Given the description of an element on the screen output the (x, y) to click on. 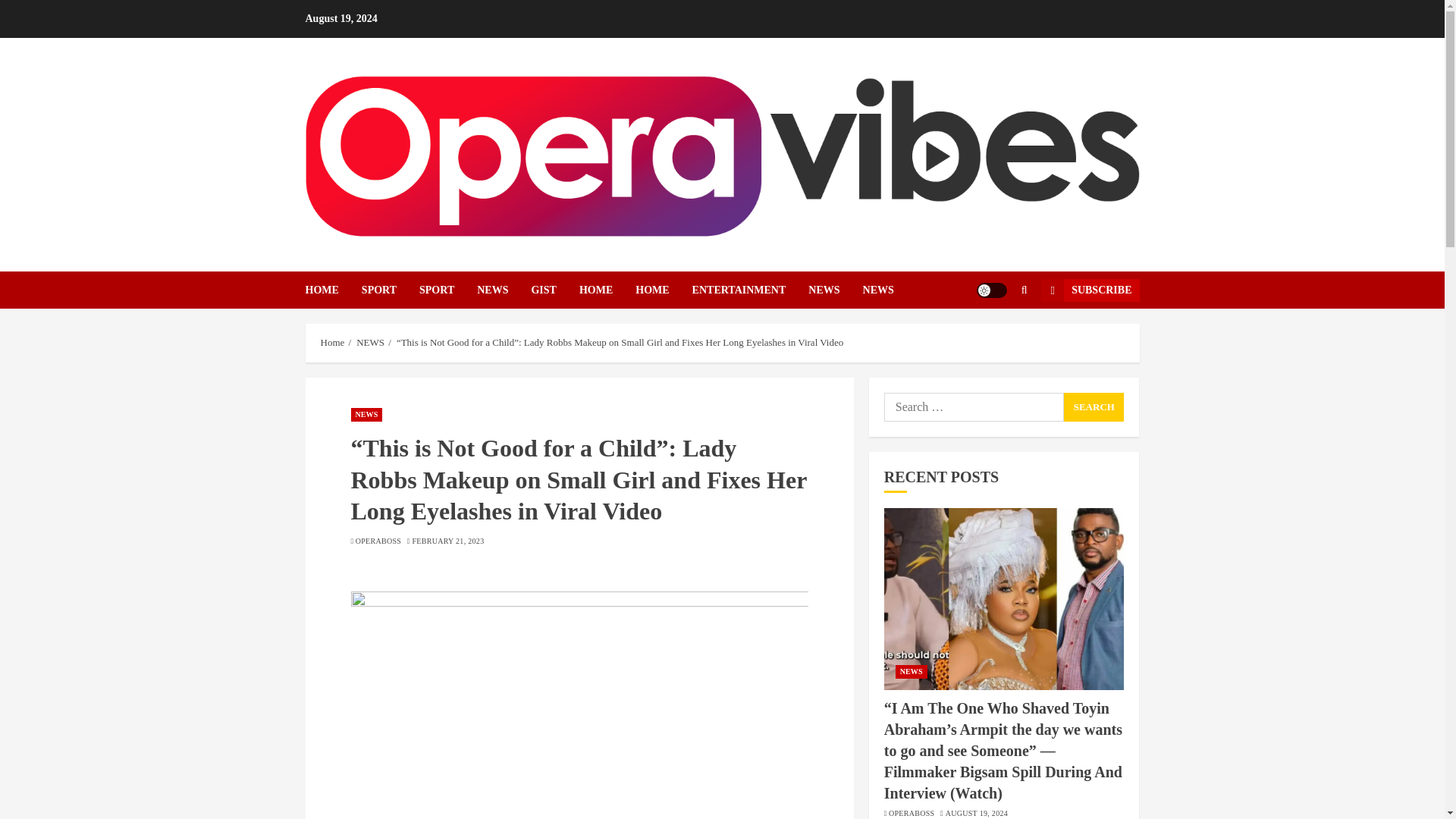
NEWS (504, 289)
Search (1094, 407)
Home (331, 342)
Search (1094, 407)
ENTERTAINMENT (751, 289)
FEBRUARY 21, 2023 (447, 541)
SPORT (448, 289)
Search (994, 335)
NEWS (365, 414)
OPERABOSS (378, 541)
